Given the description of an element on the screen output the (x, y) to click on. 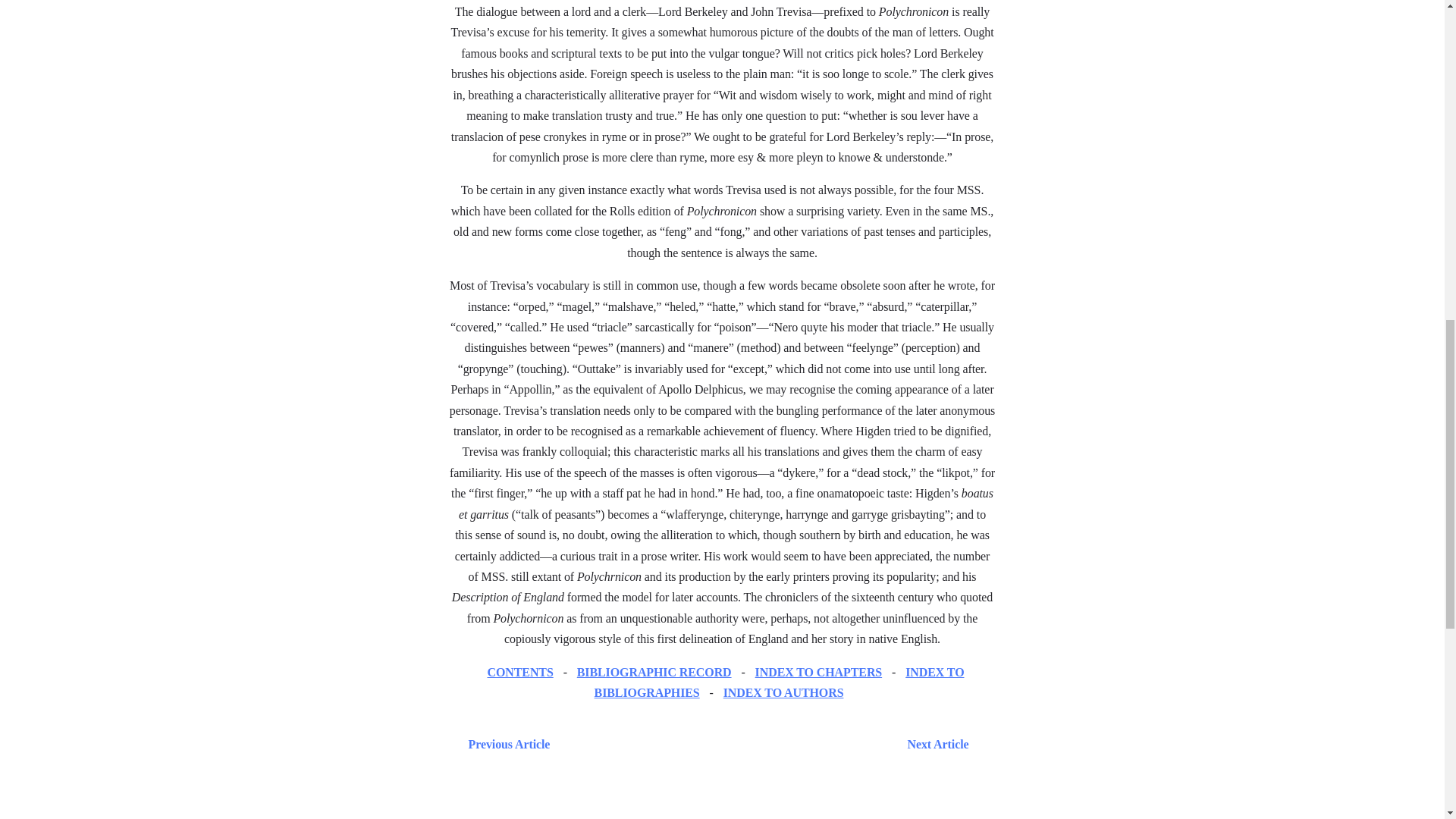
CONTENTS (519, 671)
INDEX TO CHAPTERS (818, 671)
BIBLIOGRAPHIC RECORD (654, 671)
INDEX TO BIBLIOGRAPHIES (778, 682)
INDEX TO AUTHORS (783, 692)
Previous Article (505, 743)
Next Article (766, 743)
